Given the description of an element on the screen output the (x, y) to click on. 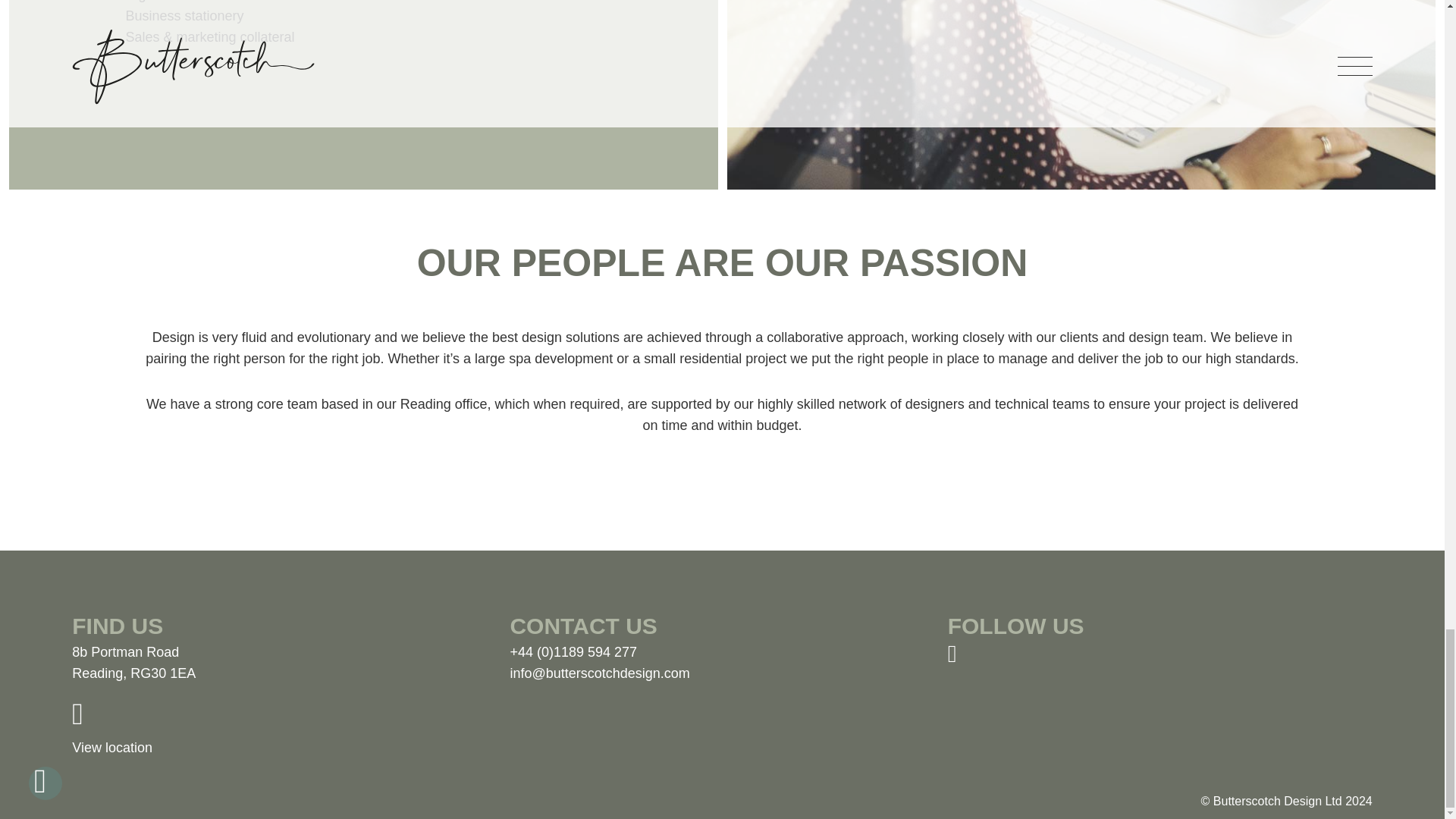
View location (249, 735)
